Given the description of an element on the screen output the (x, y) to click on. 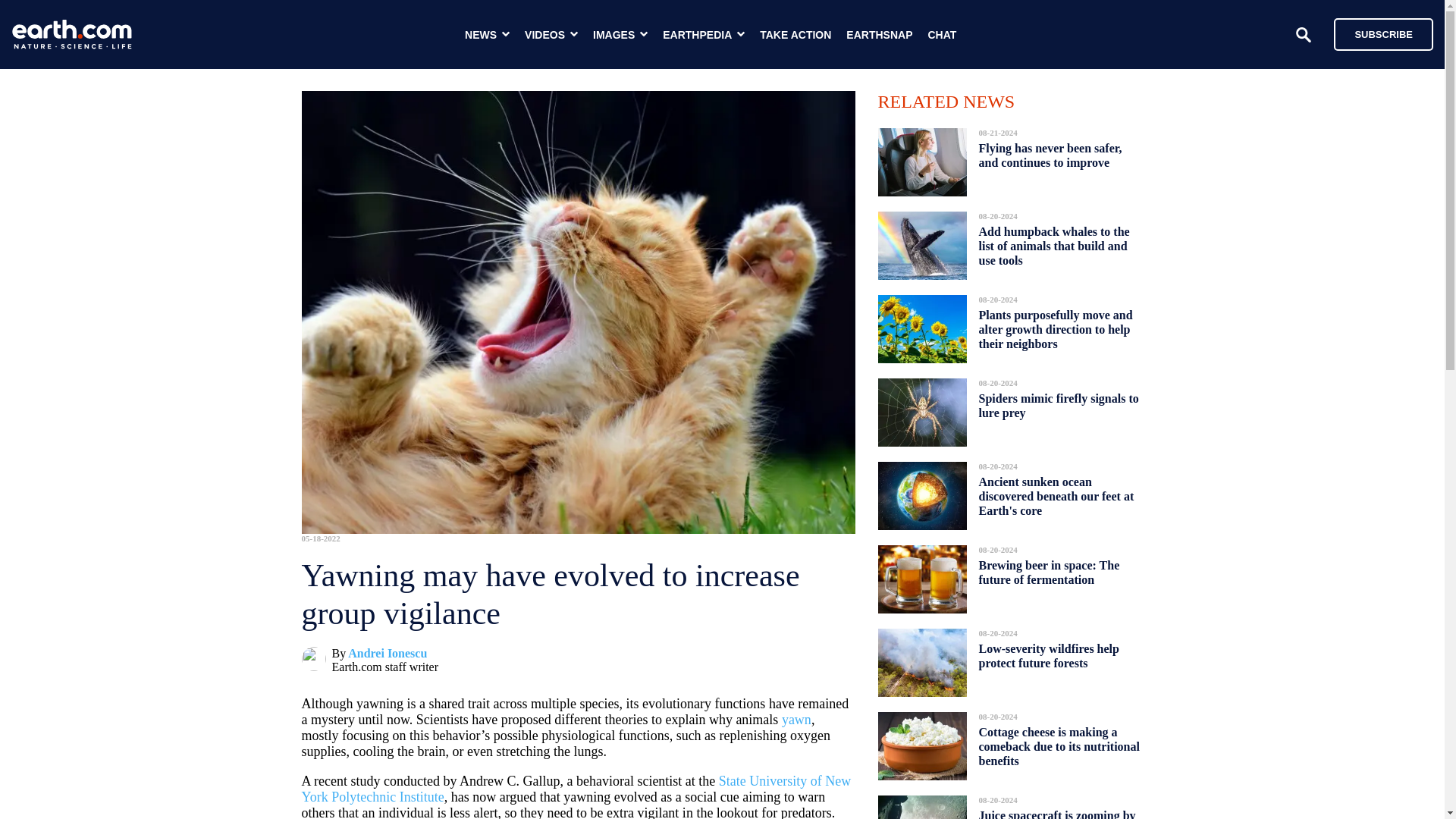
Brewing beer in space: The future of fermentation (1048, 572)
EARTHSNAP (878, 34)
Flying has never been safer, and continues to improve (1049, 155)
CHAT (941, 34)
Low-severity wildfires help protect future forests (1048, 655)
SUBSCRIBE (1382, 34)
State University of New York Polytechnic Institute (576, 788)
SUBSCRIBE (1375, 33)
